Given the description of an element on the screen output the (x, y) to click on. 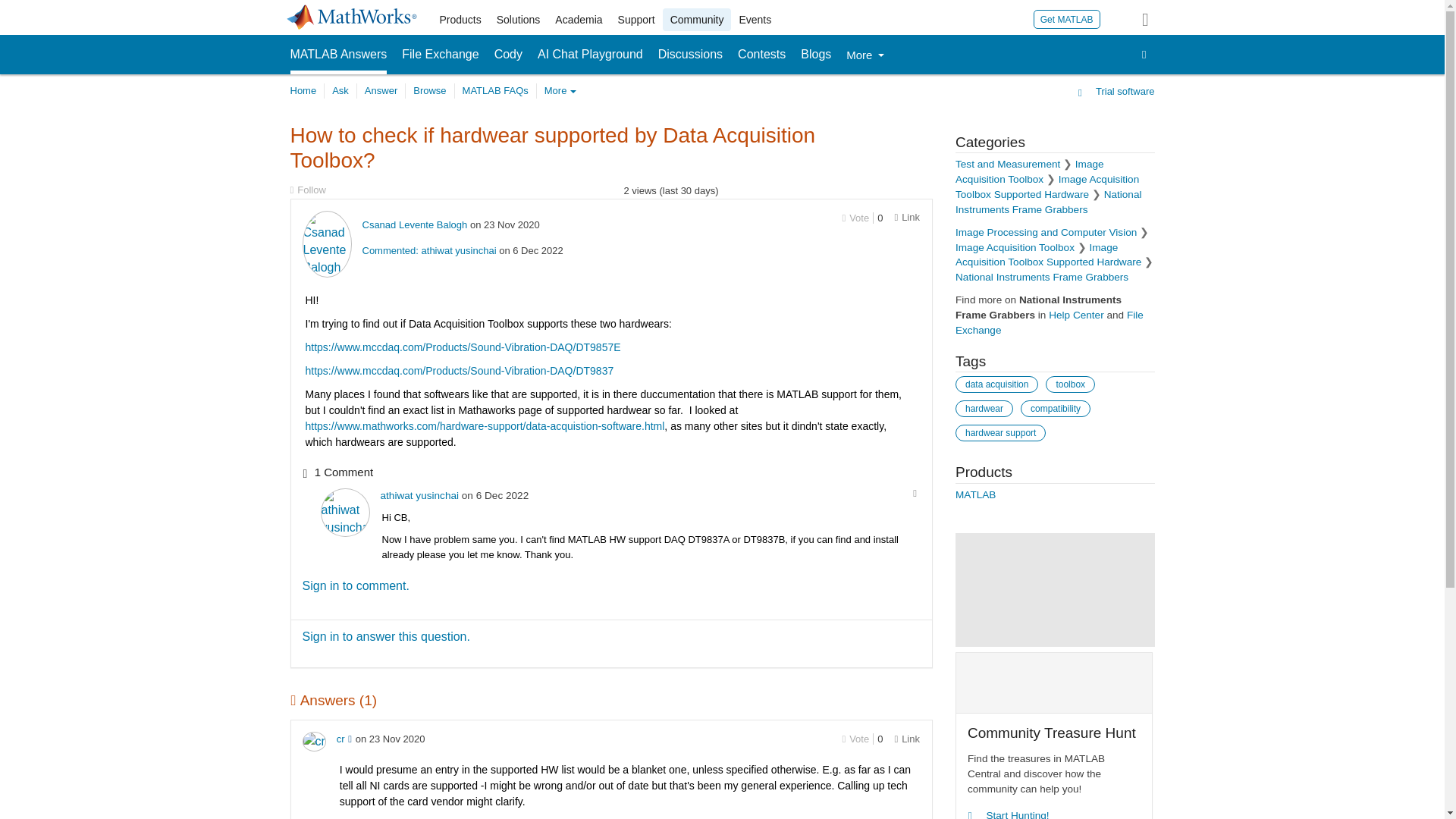
Products (460, 19)
Sign in to vote for questions and answers (855, 217)
Cody (508, 54)
MATLAB Answers (338, 54)
Contests (762, 54)
Direct link to this answer (906, 738)
Direct link to this question (906, 216)
Sign in to follow activity (306, 189)
Discussions (690, 54)
File Exchange (440, 54)
Support (636, 19)
Sign In to Your MathWorks Account (1117, 18)
Sign in to vote for questions and answers (855, 738)
Community (697, 19)
Events (754, 19)
